Given the description of an element on the screen output the (x, y) to click on. 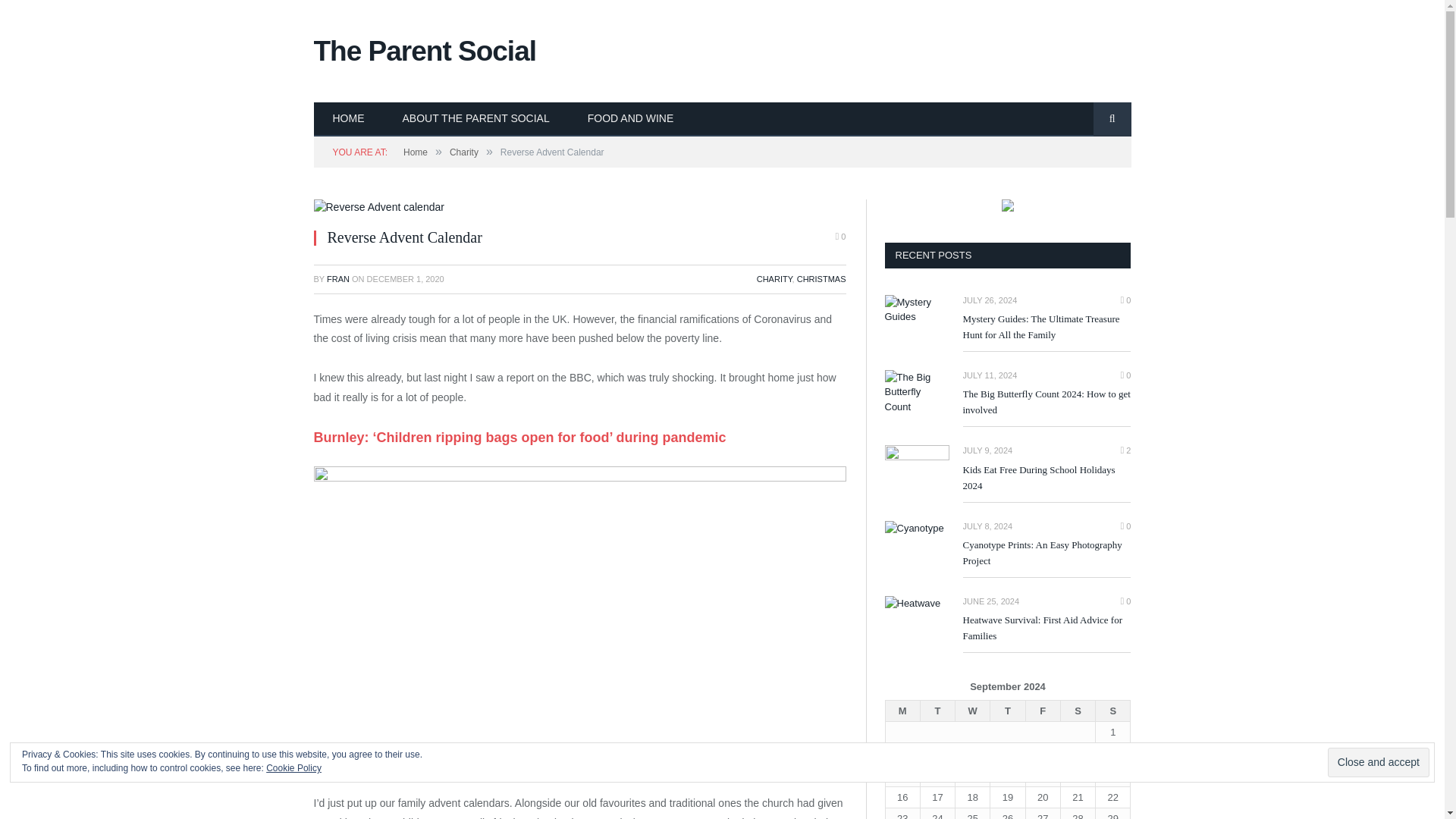
Close and accept (1378, 762)
Reverse Advent Calendar (379, 207)
Posts by Fran (337, 278)
FOOD AND WINE (631, 119)
ABOUT THE PARENT SOCIAL (476, 119)
CHRISTMAS (820, 278)
HOME (349, 119)
Search (1112, 119)
Home (415, 152)
2020-12-01 (405, 278)
